Given the description of an element on the screen output the (x, y) to click on. 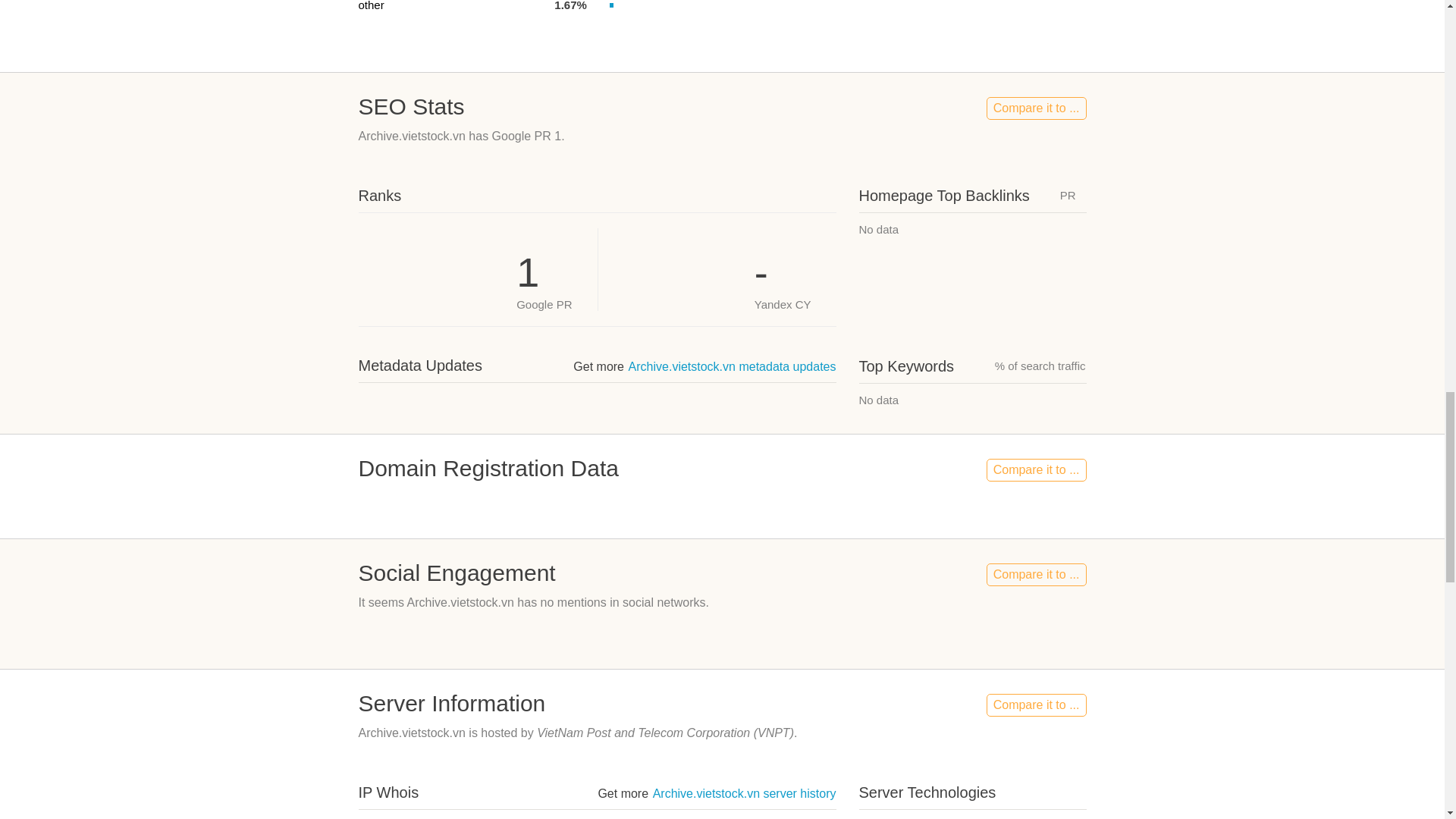
Compare it to ... (1036, 108)
Archive.vietstock.vn server history (743, 793)
Compare it to ... (1036, 469)
Compare it to ... (1036, 704)
Archive.vietstock.vn metadata updates (731, 366)
Compare it to ... (1036, 574)
